Given the description of an element on the screen output the (x, y) to click on. 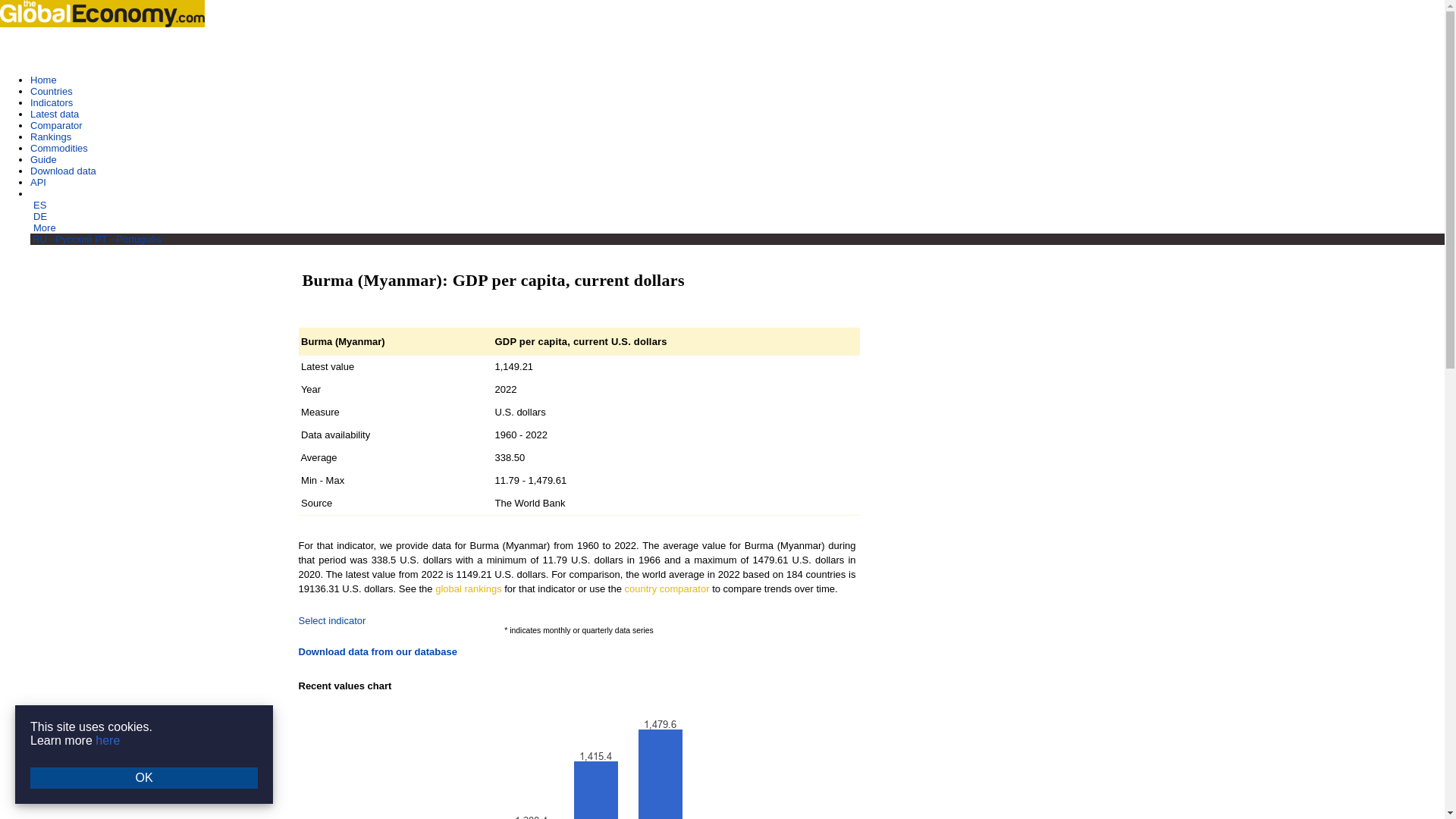
ES (39, 204)
Commodities (58, 147)
Guide (43, 159)
global rankings (467, 588)
Download data (63, 170)
Rankings (50, 136)
EN (38, 193)
More (44, 227)
Indicators (51, 102)
Latest data (54, 113)
API (38, 182)
Comparator (56, 125)
DE (39, 215)
Download data from our database (377, 651)
country comparator (667, 588)
